Given the description of an element on the screen output the (x, y) to click on. 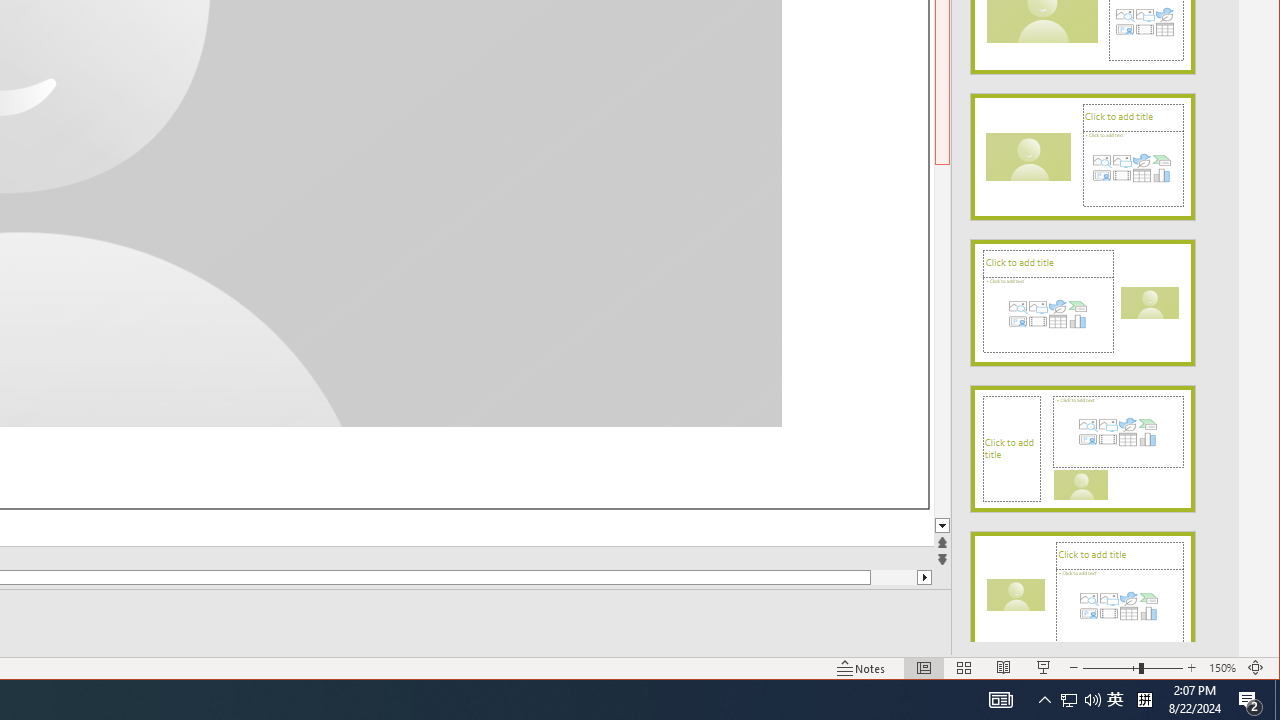
Zoom 150% (1222, 668)
